Given the description of an element on the screen output the (x, y) to click on. 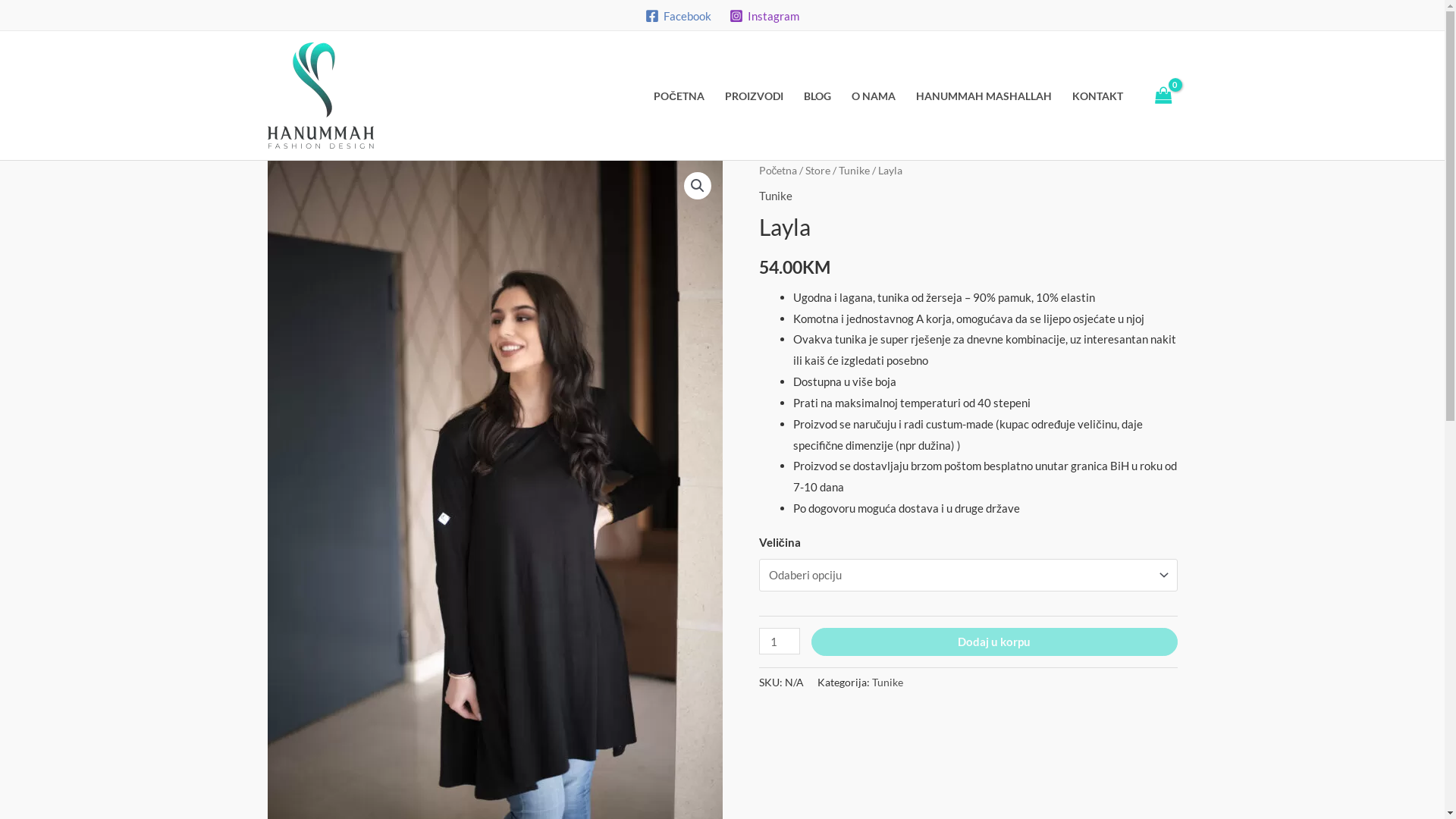
Tunike Element type: text (774, 195)
O NAMA Element type: text (873, 95)
Tunike Element type: text (887, 682)
Facebook Element type: text (677, 15)
Store Element type: text (817, 169)
KONTAKT Element type: text (1096, 95)
Instagram Element type: text (763, 15)
HANUMMAH MASHALLAH Element type: text (983, 95)
Dodaj u korpu Element type: text (994, 641)
PROIZVODI Element type: text (753, 95)
BLOG Element type: text (816, 95)
Tunike Element type: text (853, 169)
